Given the description of an element on the screen output the (x, y) to click on. 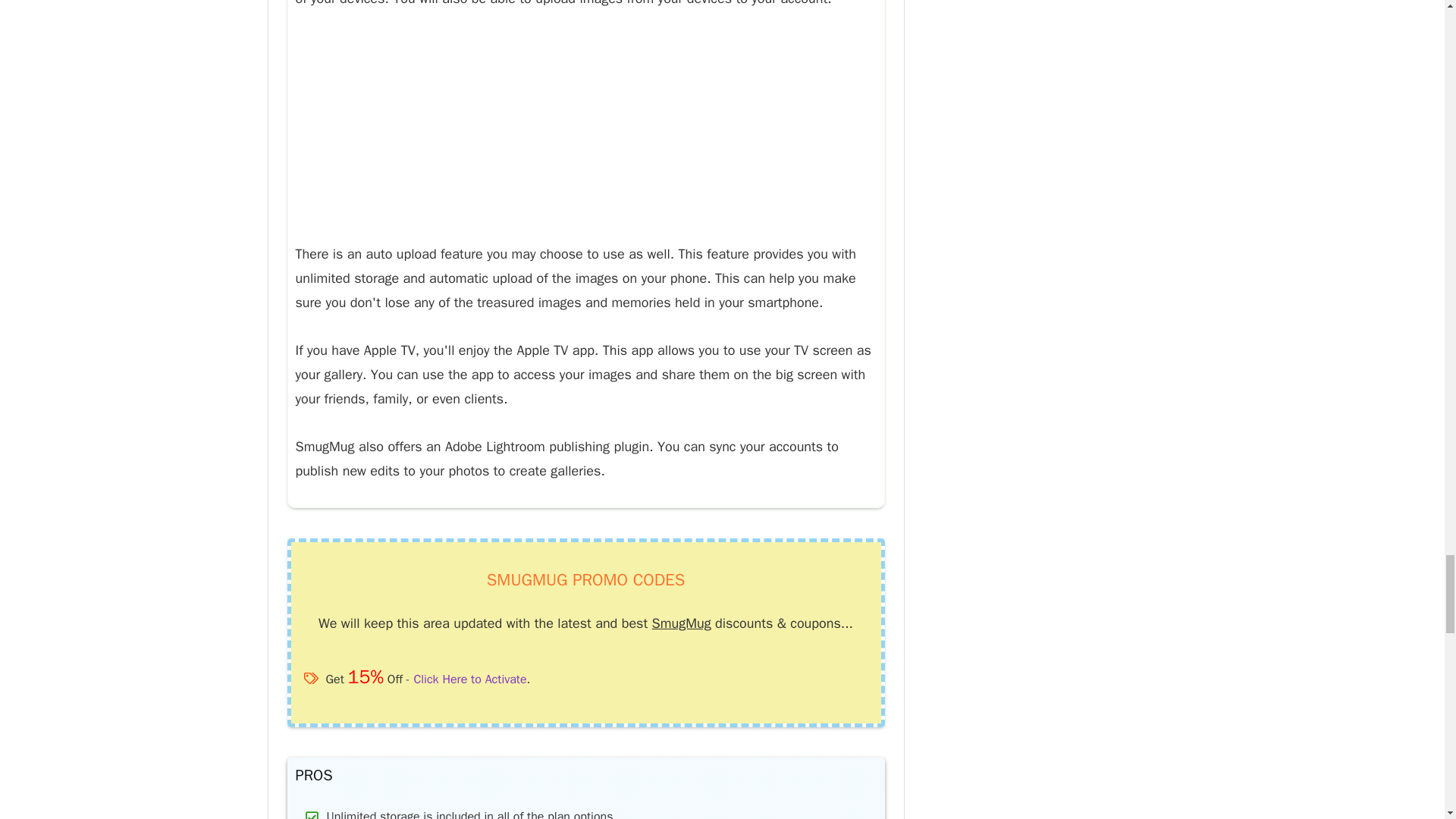
Click Here to Activate (469, 679)
SmugMug (681, 623)
